Given the description of an element on the screen output the (x, y) to click on. 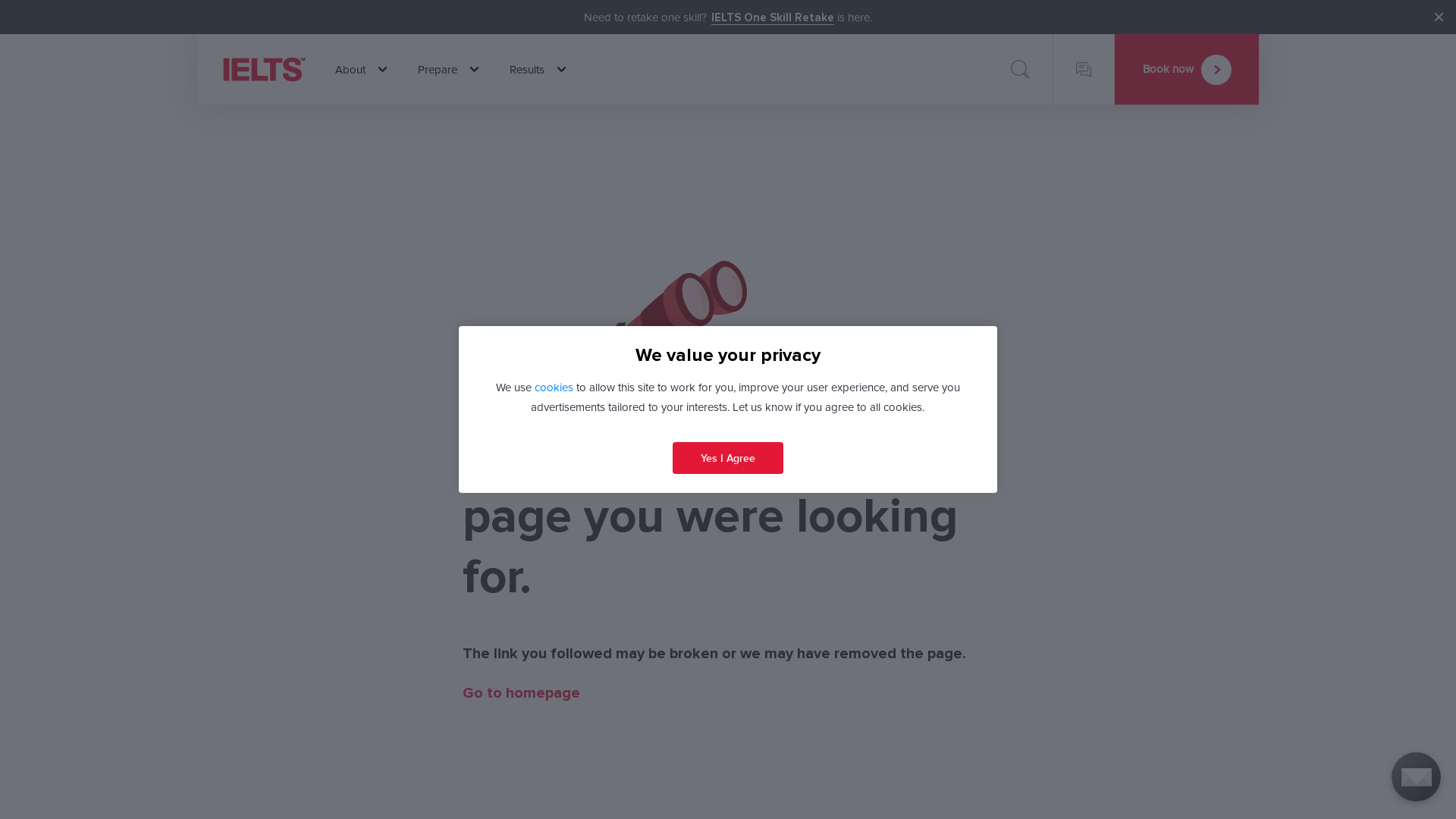
Prepare Element type: text (447, 69)
Book now Element type: text (1186, 69)
Go to homepage Element type: text (521, 693)
Yes I Agree Element type: text (727, 457)
cookies Element type: text (553, 387)
IELTS One Skill Retake Element type: text (772, 17)
Results Element type: text (537, 69)
About Element type: text (360, 69)
